Given the description of an element on the screen output the (x, y) to click on. 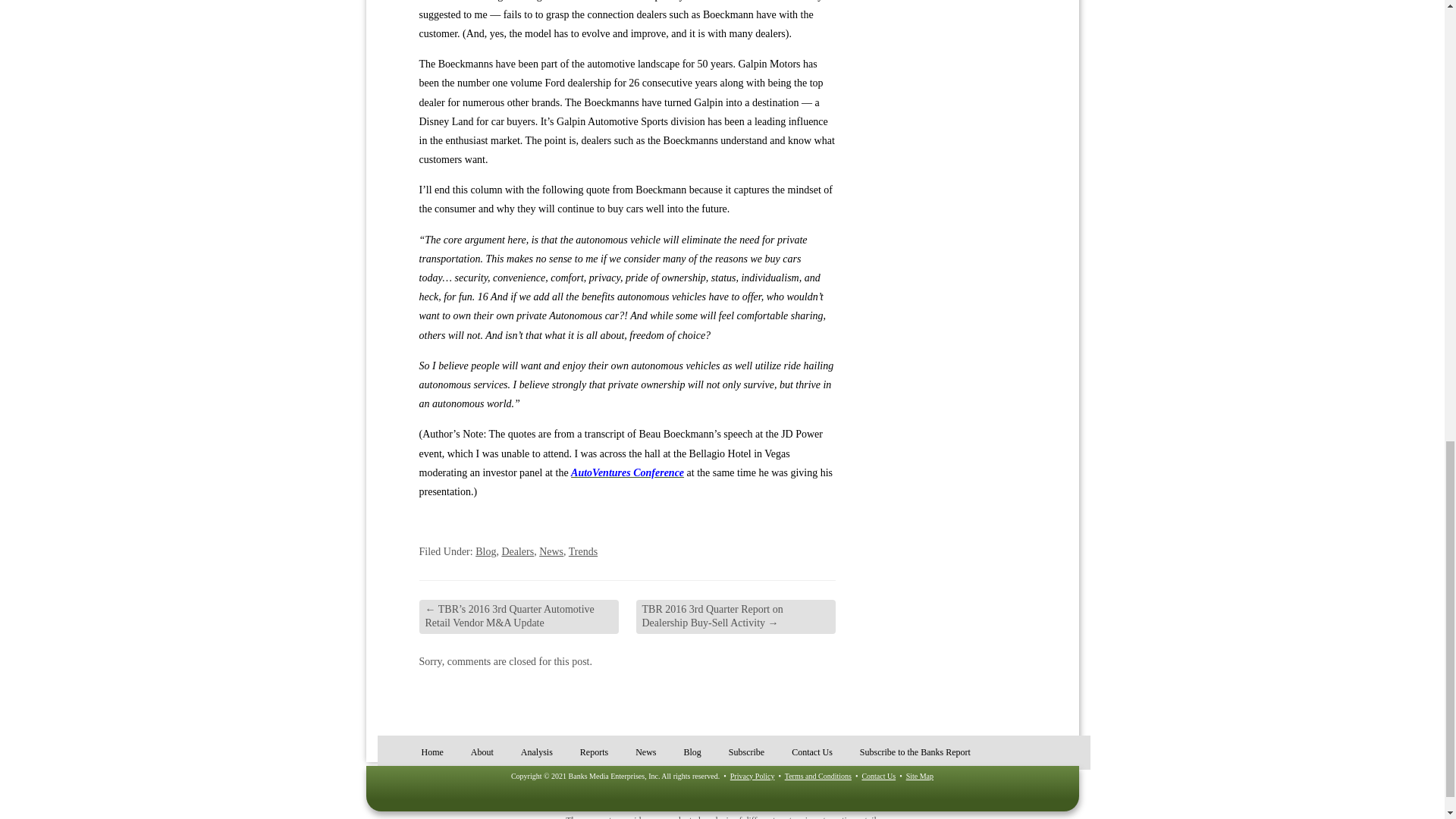
Contact Us (878, 776)
Blog (486, 551)
Privacy Policy (752, 776)
Sitemap (919, 776)
News (550, 551)
Terms and Conditions (817, 776)
Trends (582, 551)
AutoVentures Conference (627, 472)
Dealers (517, 551)
